Given the description of an element on the screen output the (x, y) to click on. 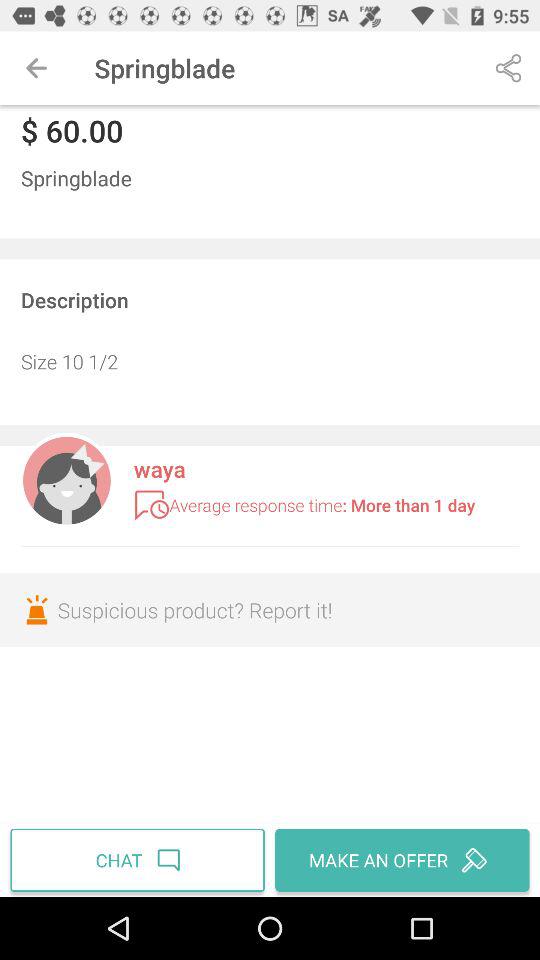
click the chat (139, 860)
